Given the description of an element on the screen output the (x, y) to click on. 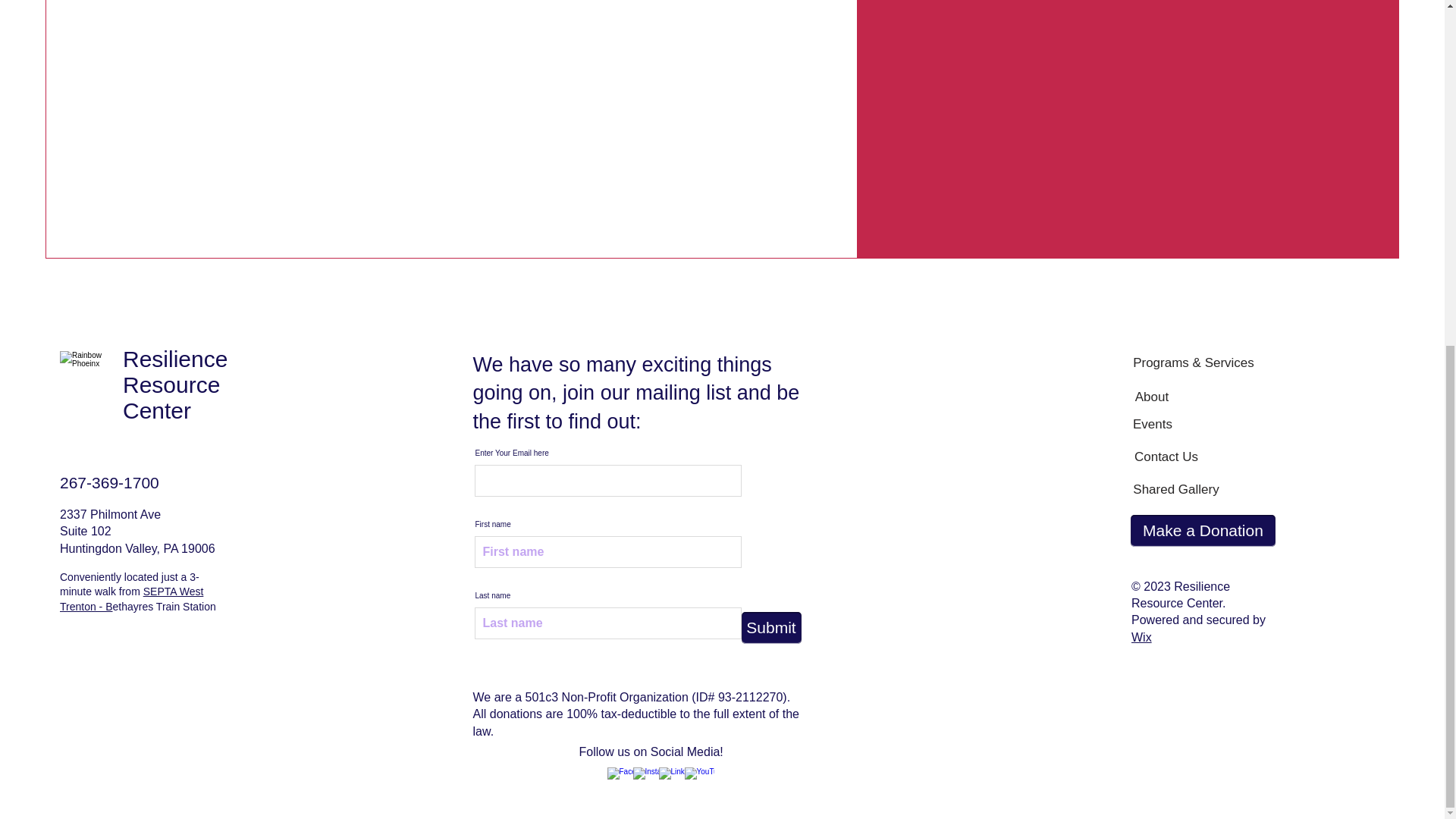
Submit (771, 627)
Resilience (174, 358)
Events (1152, 424)
Shared Gallery (1176, 490)
Wix (1141, 636)
Make a Donation (1203, 531)
Contact Us (1166, 457)
SEPTA West Trenton - B (131, 598)
About (1151, 397)
